Given the description of an element on the screen output the (x, y) to click on. 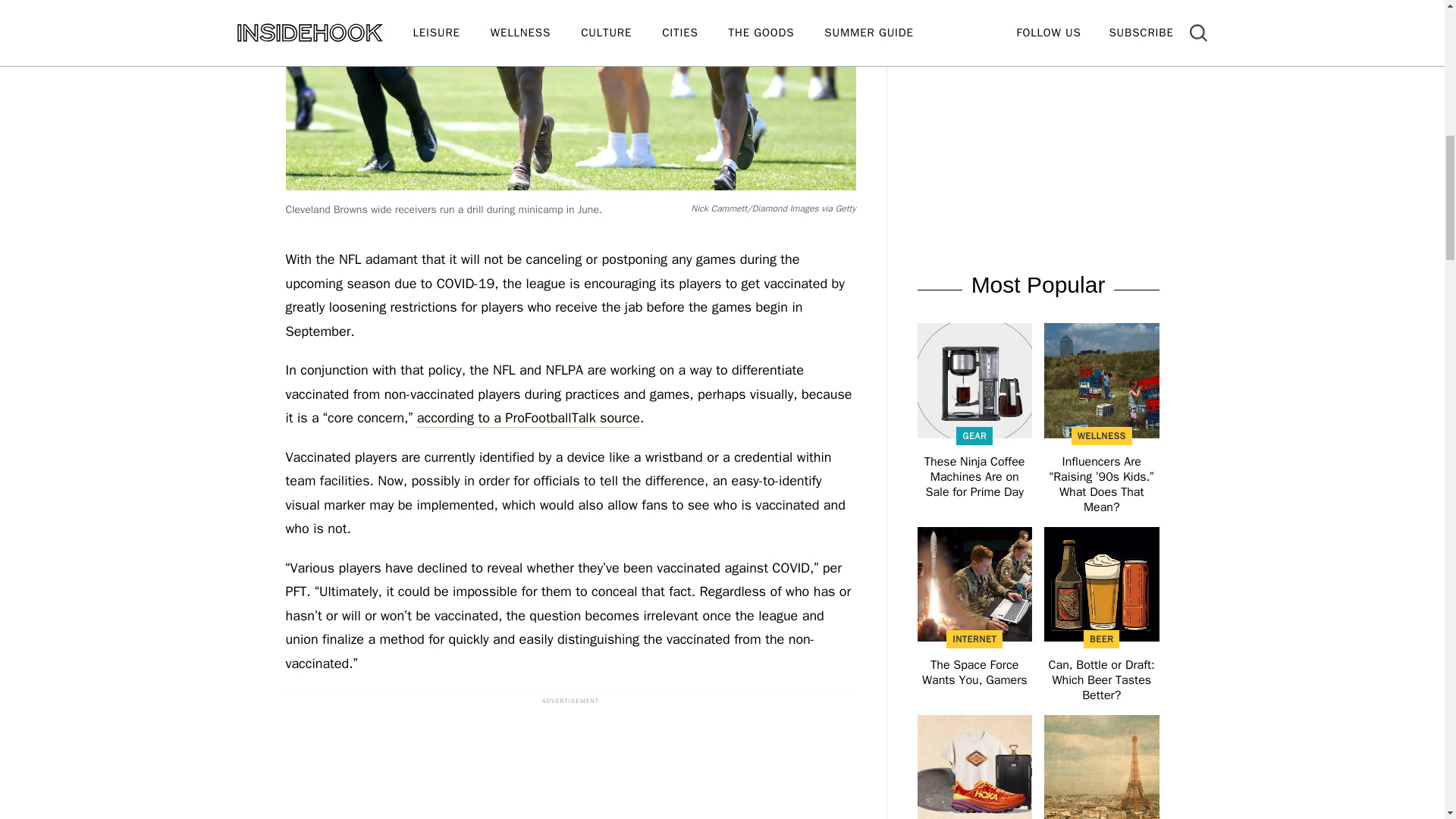
3rd party ad content (570, 765)
